Given the description of an element on the screen output the (x, y) to click on. 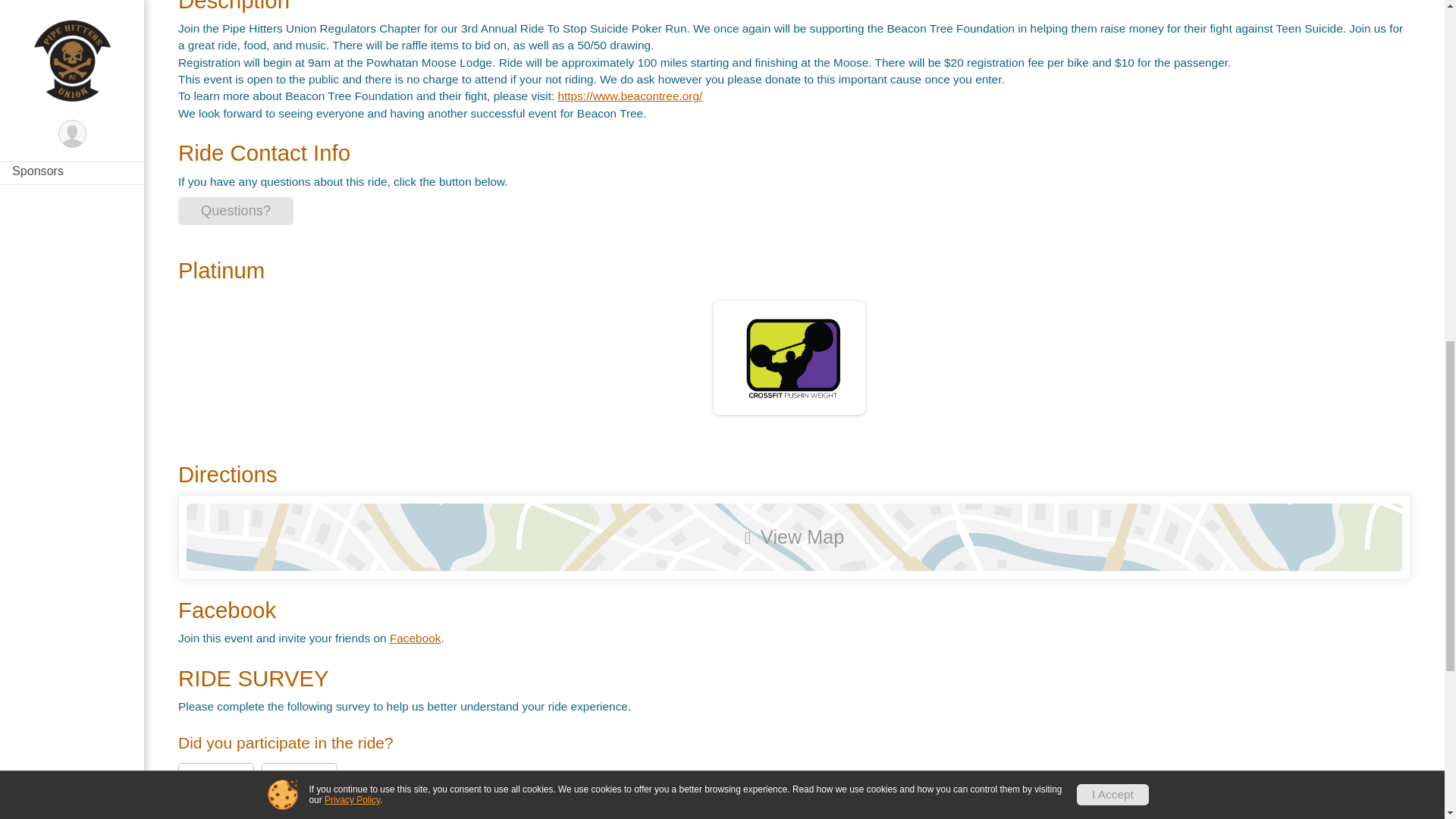
Questions? (235, 211)
View Map (794, 536)
Facebook (415, 637)
